Given the description of an element on the screen output the (x, y) to click on. 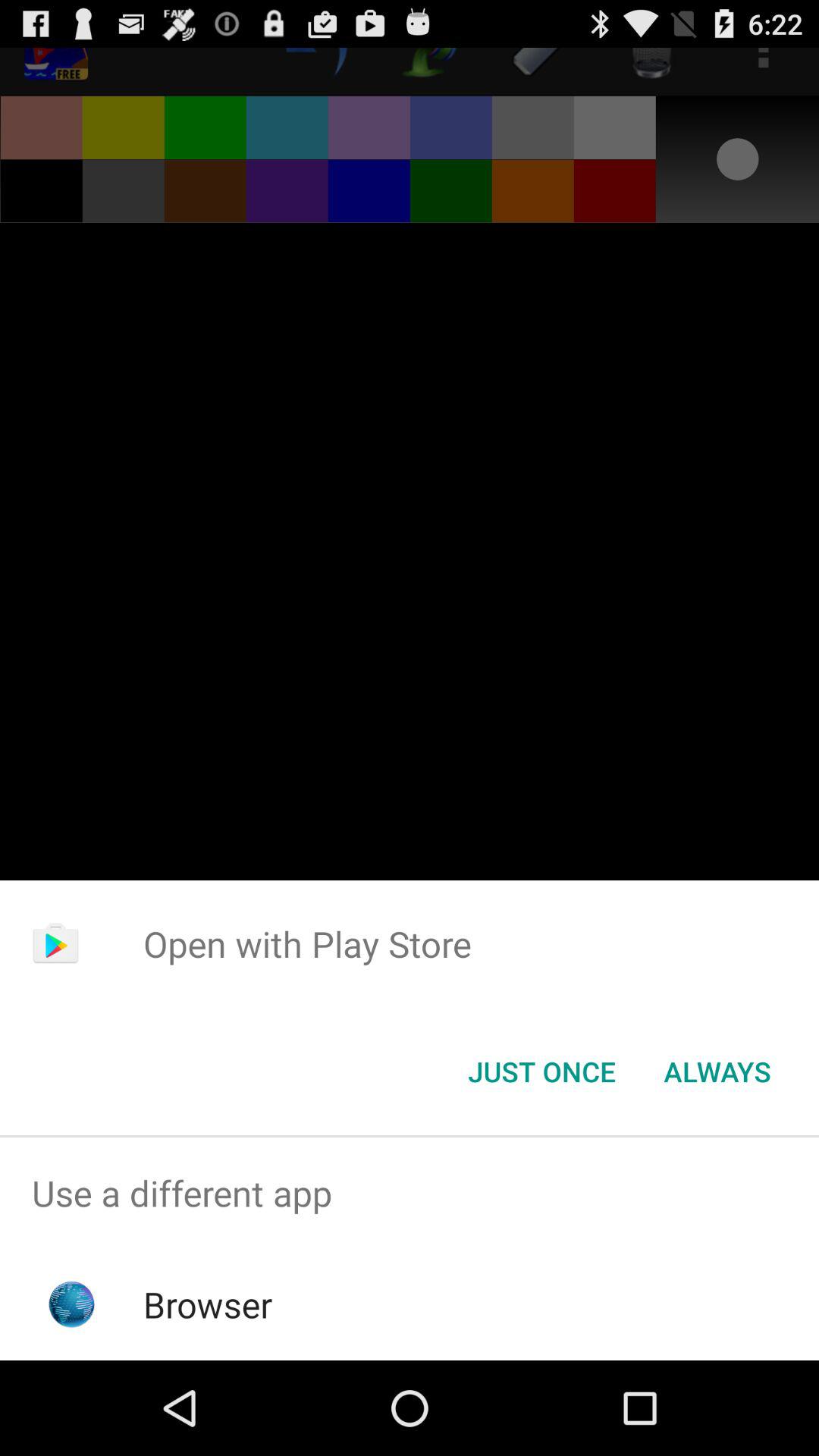
scroll until the browser icon (207, 1304)
